Given the description of an element on the screen output the (x, y) to click on. 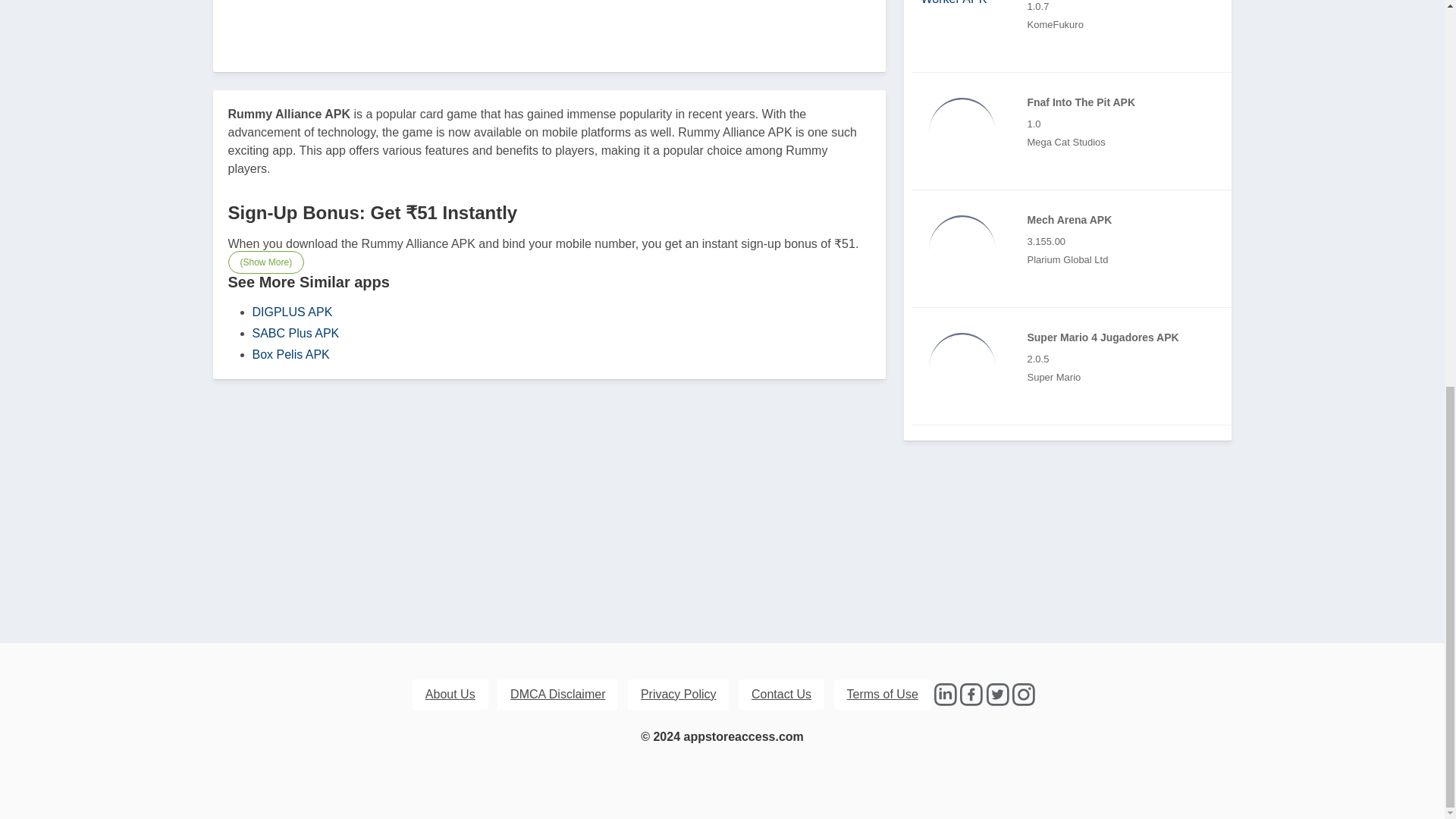
DIGPLUS APK (291, 310)
SABC Plus APK (295, 332)
Box Pelis APK (290, 353)
Advertisement (548, 20)
